Given the description of an element on the screen output the (x, y) to click on. 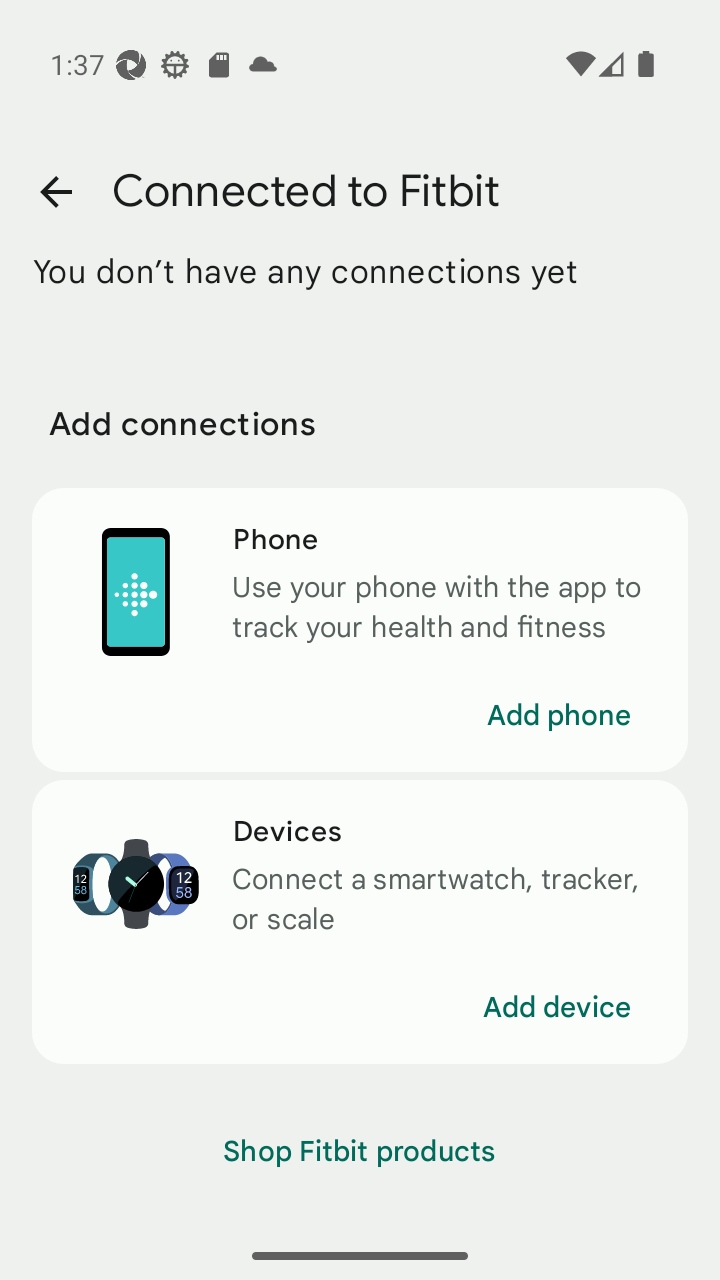
Go back (55, 191)
Add phone (558, 716)
Add device (557, 1008)
Shop Fitbit products (359, 1151)
